Given the description of an element on the screen output the (x, y) to click on. 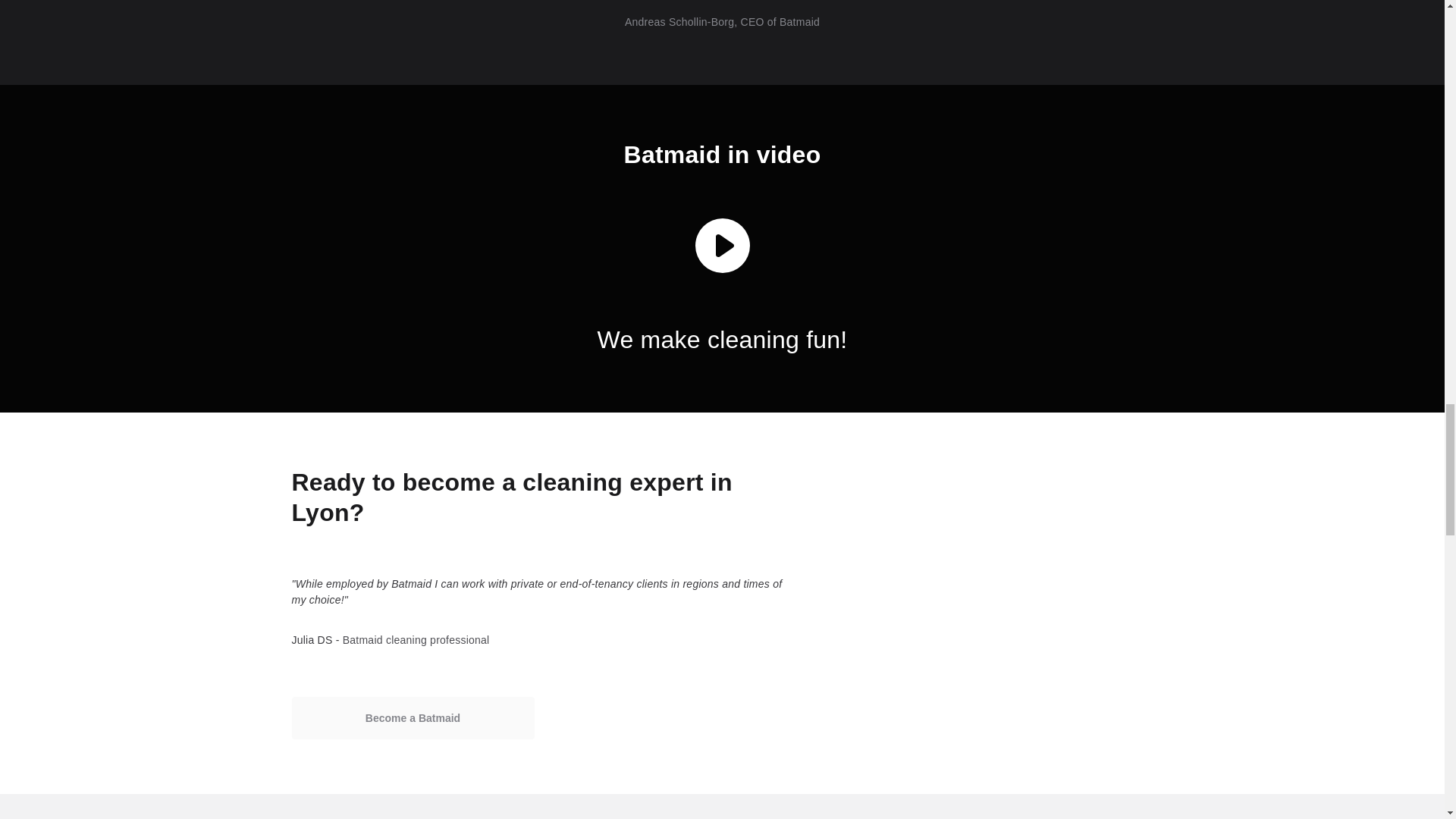
Become a Batmaid (412, 717)
